Given the description of an element on the screen output the (x, y) to click on. 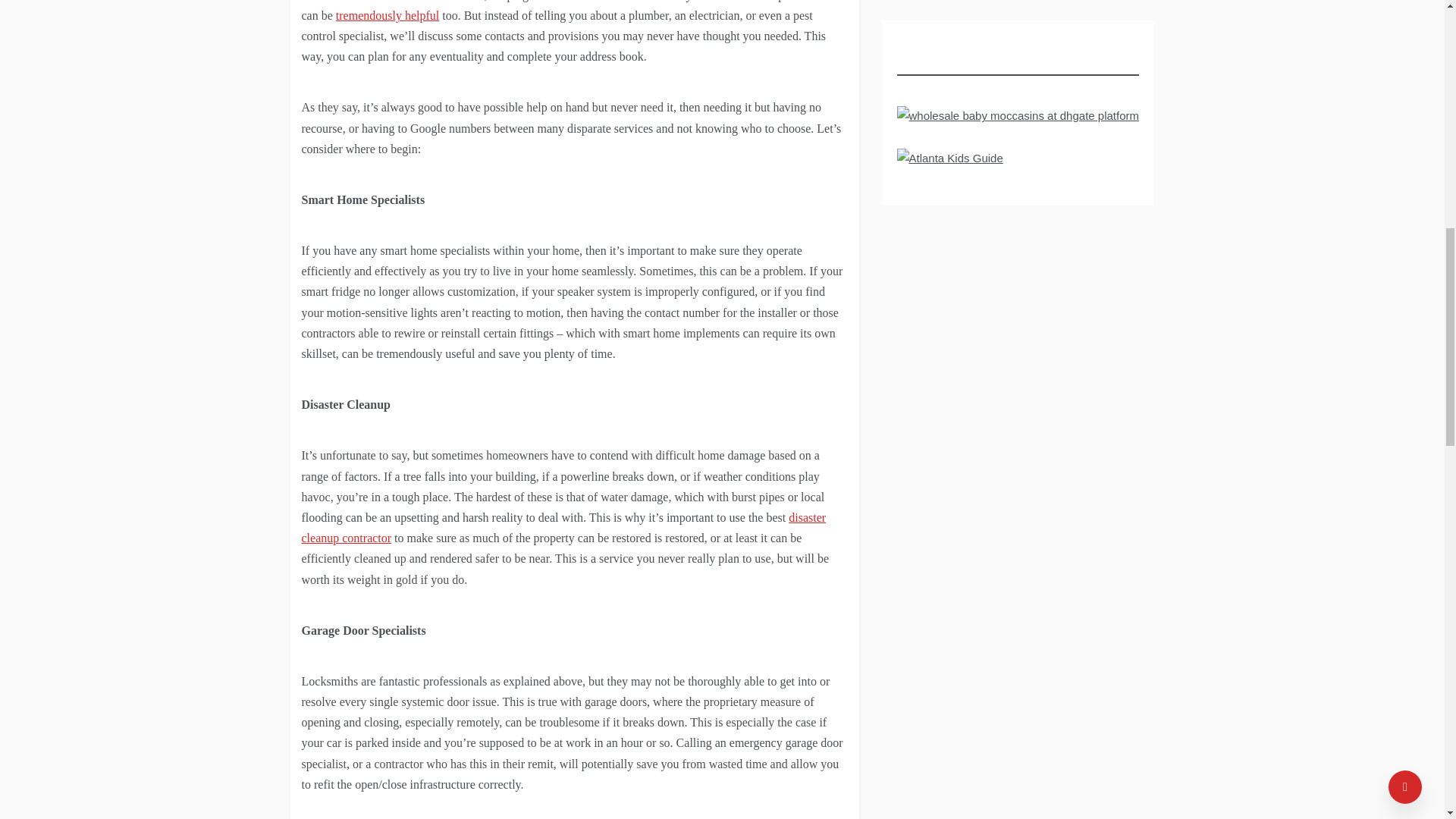
disaster cleanup contractor (564, 527)
tremendously helpful (387, 15)
Atlanta Kids Guide (949, 162)
